Given the description of an element on the screen output the (x, y) to click on. 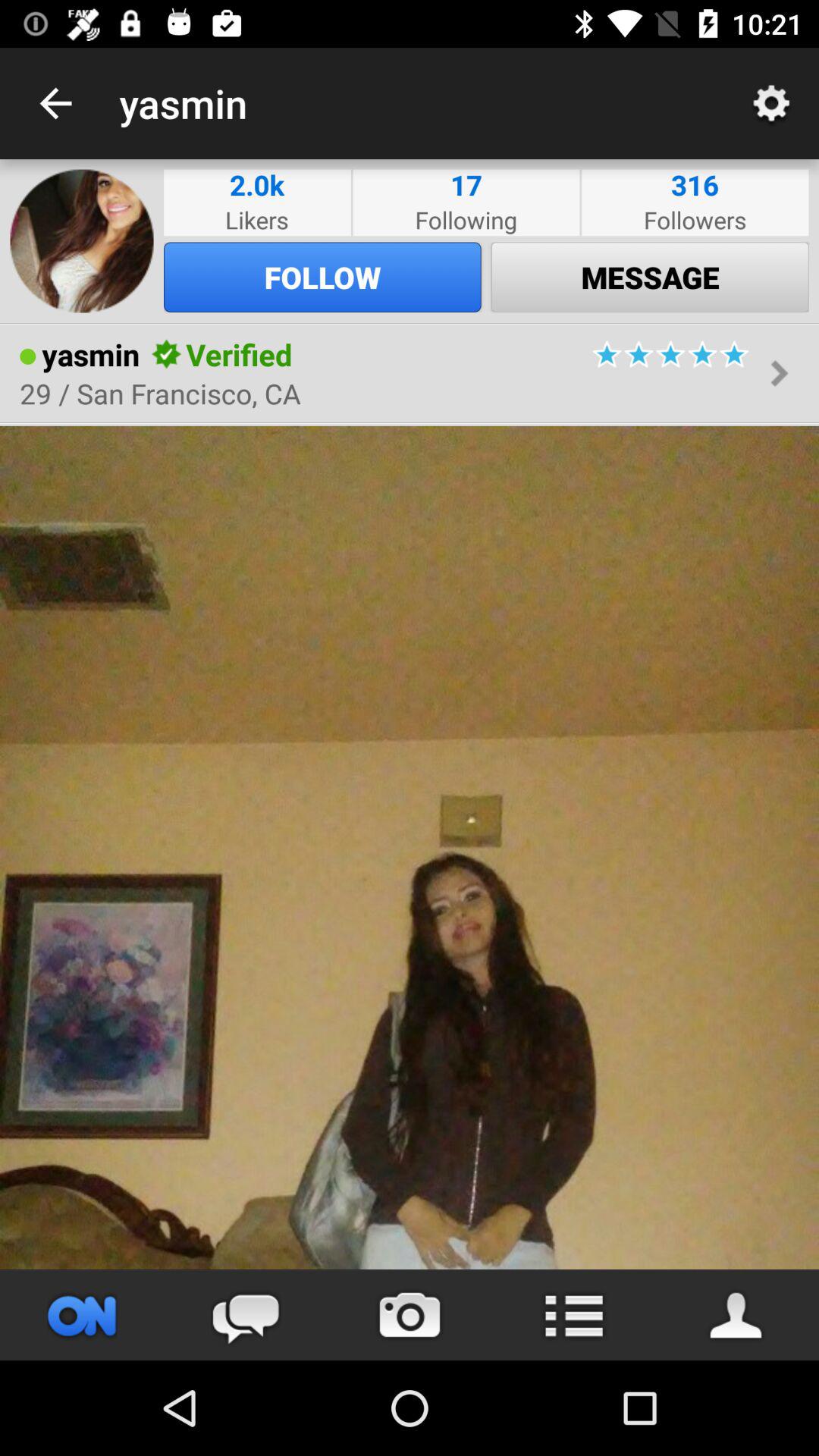
turn off the item below the 29 san francisco (409, 423)
